Given the description of an element on the screen output the (x, y) to click on. 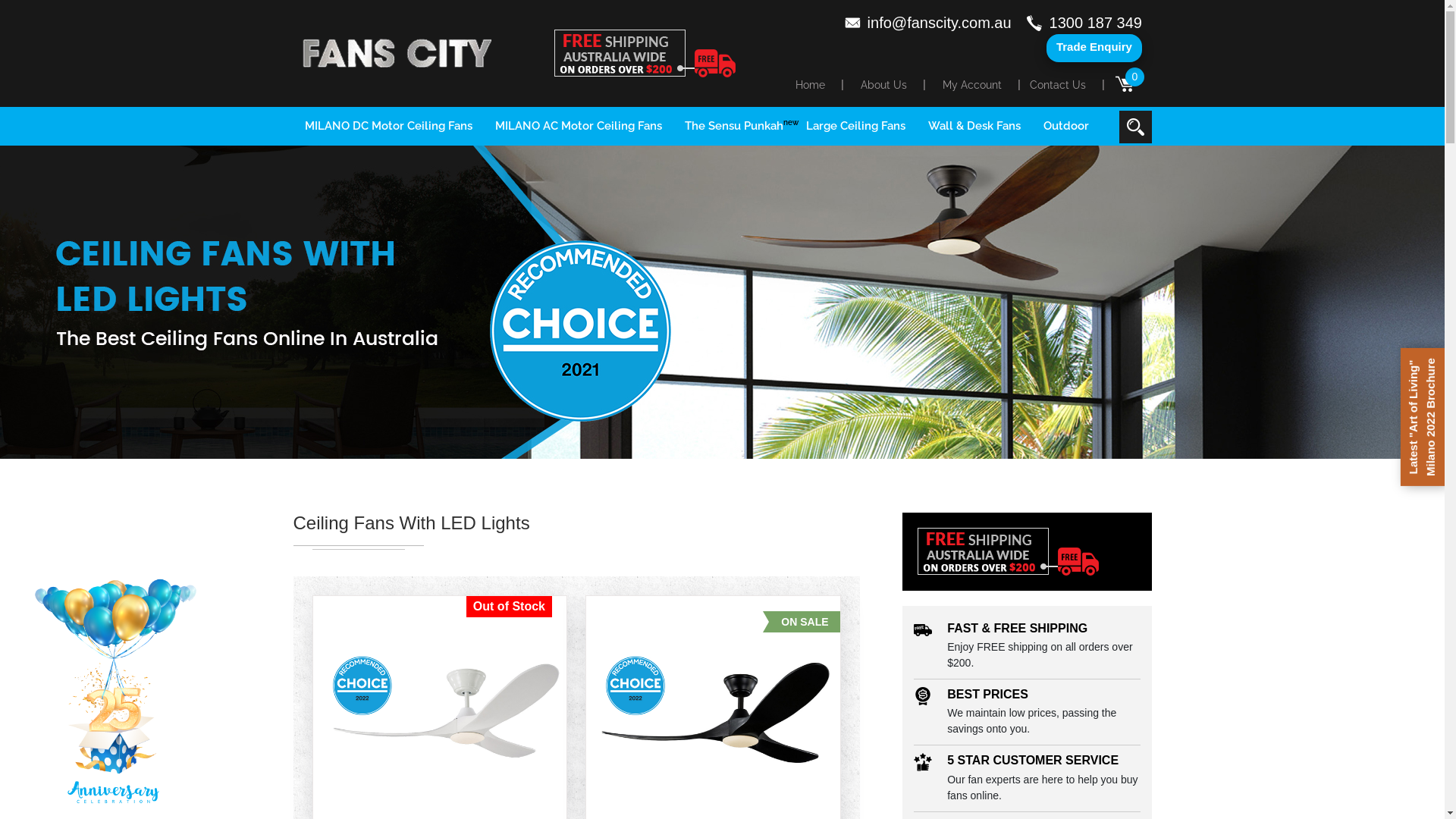
1300 187 349 Element type: text (1084, 22)
FAST & FREE SHIPPING Element type: text (1017, 627)
Home Element type: text (810, 84)
Cart Element type: text (1124, 81)
MILANO AC Motor Ceiling Fans Element type: text (577, 125)
Contact Us Element type: text (1057, 84)
BEST PRICES Element type: text (987, 693)
  Element type: hover (1007, 551)
About Us Element type: text (883, 84)
5 STAR CUSTOMER SERVICE Element type: text (1032, 759)
Large Ceiling Fans Element type: text (854, 125)
MILANO DC Motor Ceiling Fans Element type: text (388, 125)
free-shipping Element type: hover (644, 53)
Outdoor Element type: text (1065, 125)
My Account Element type: text (971, 84)
Trade Enquiry Element type: text (1094, 48)
Fans city Element type: hover (396, 52)
info@fanscity.com.au Element type: text (927, 22)
The Sensu Punkah Element type: text (733, 125)
Wall & Desk Fans Element type: text (974, 125)
